Given the description of an element on the screen output the (x, y) to click on. 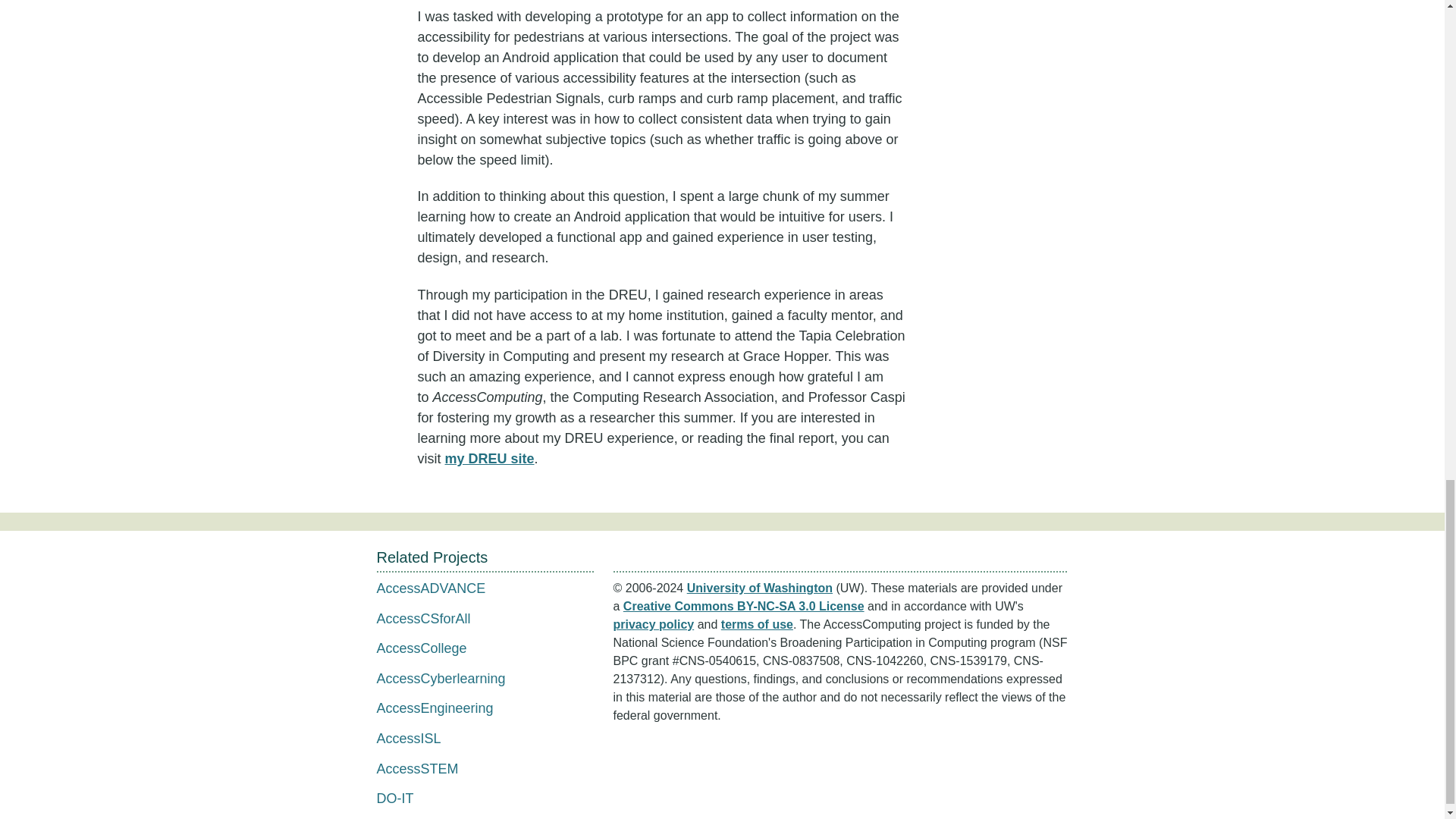
University of Washington (759, 587)
privacy policy (653, 624)
DO-IT (394, 798)
AccessCollege (420, 648)
AccessADVANCE (429, 588)
AccessCSforAll (422, 618)
terms of use (756, 624)
AccessSTEM (416, 768)
AccessEngineering (434, 708)
Creative Commons BY-NC-SA 3.0 License (743, 605)
my DREU site (489, 458)
AccessCyberlearning (440, 678)
AccessISL (408, 738)
